Given the description of an element on the screen output the (x, y) to click on. 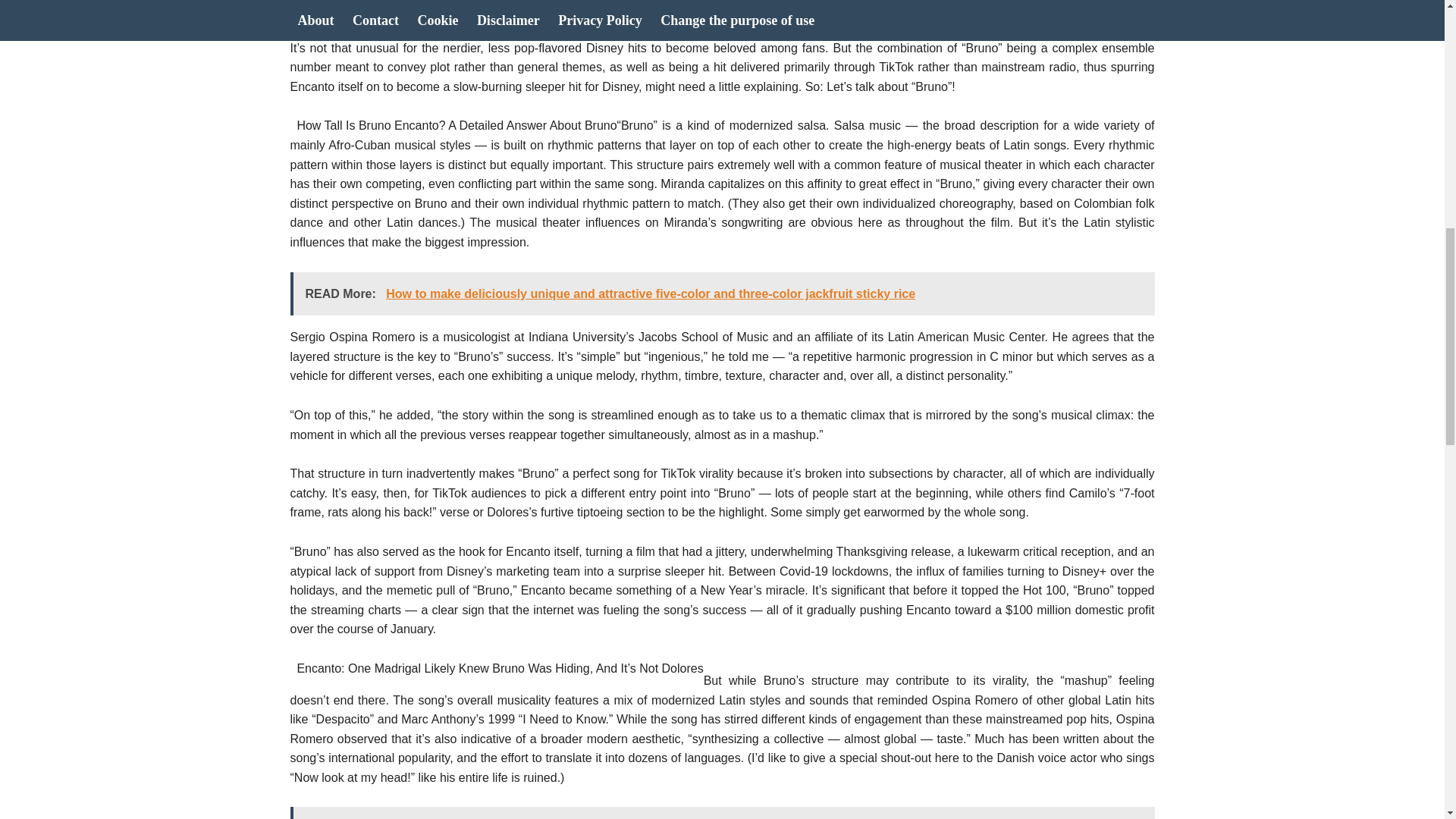
READ More:   How to Get Free Testnet Token on Rinkeby (721, 812)
